Given the description of an element on the screen output the (x, y) to click on. 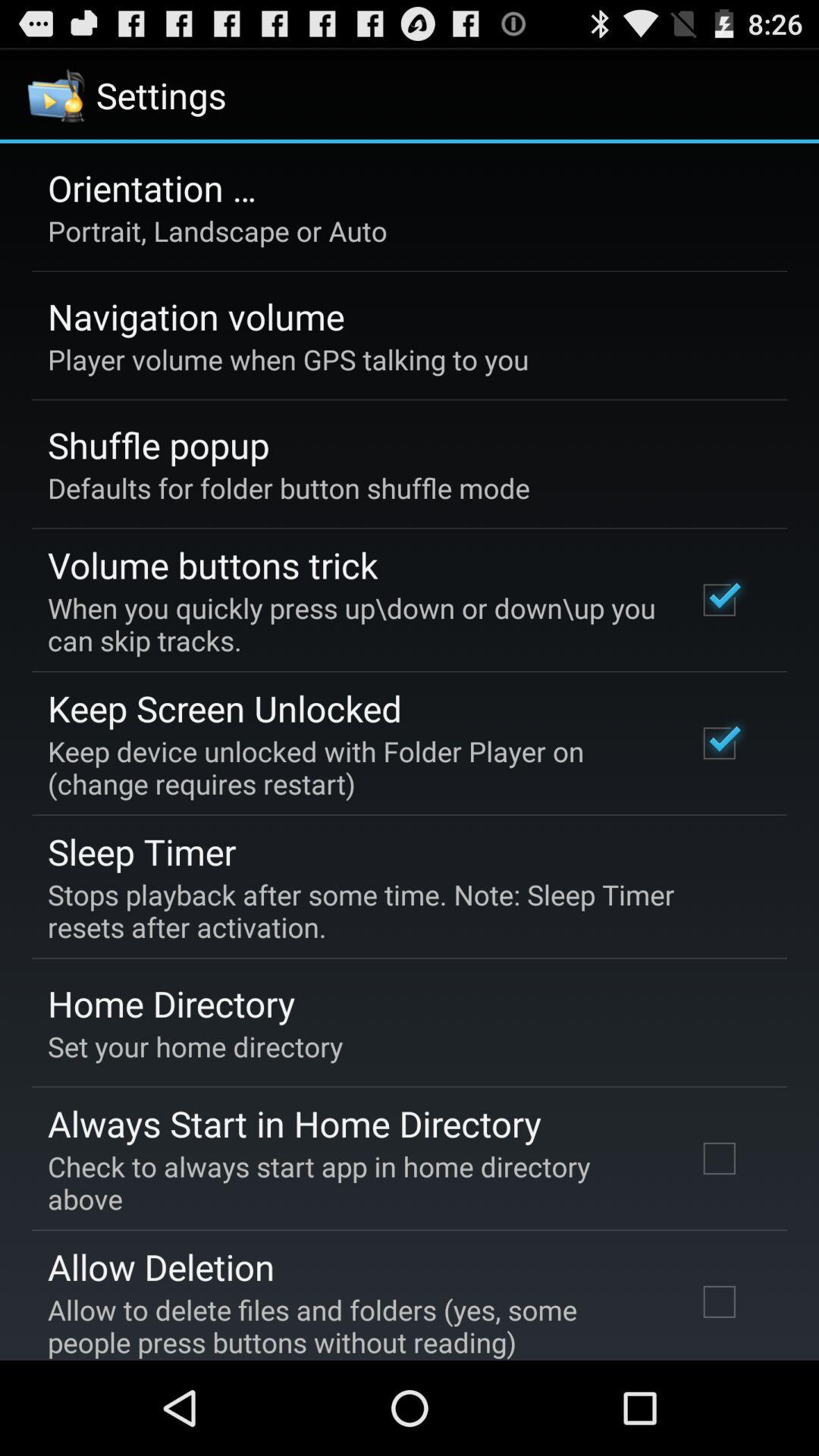
swipe until portrait landscape or icon (217, 230)
